Given the description of an element on the screen output the (x, y) to click on. 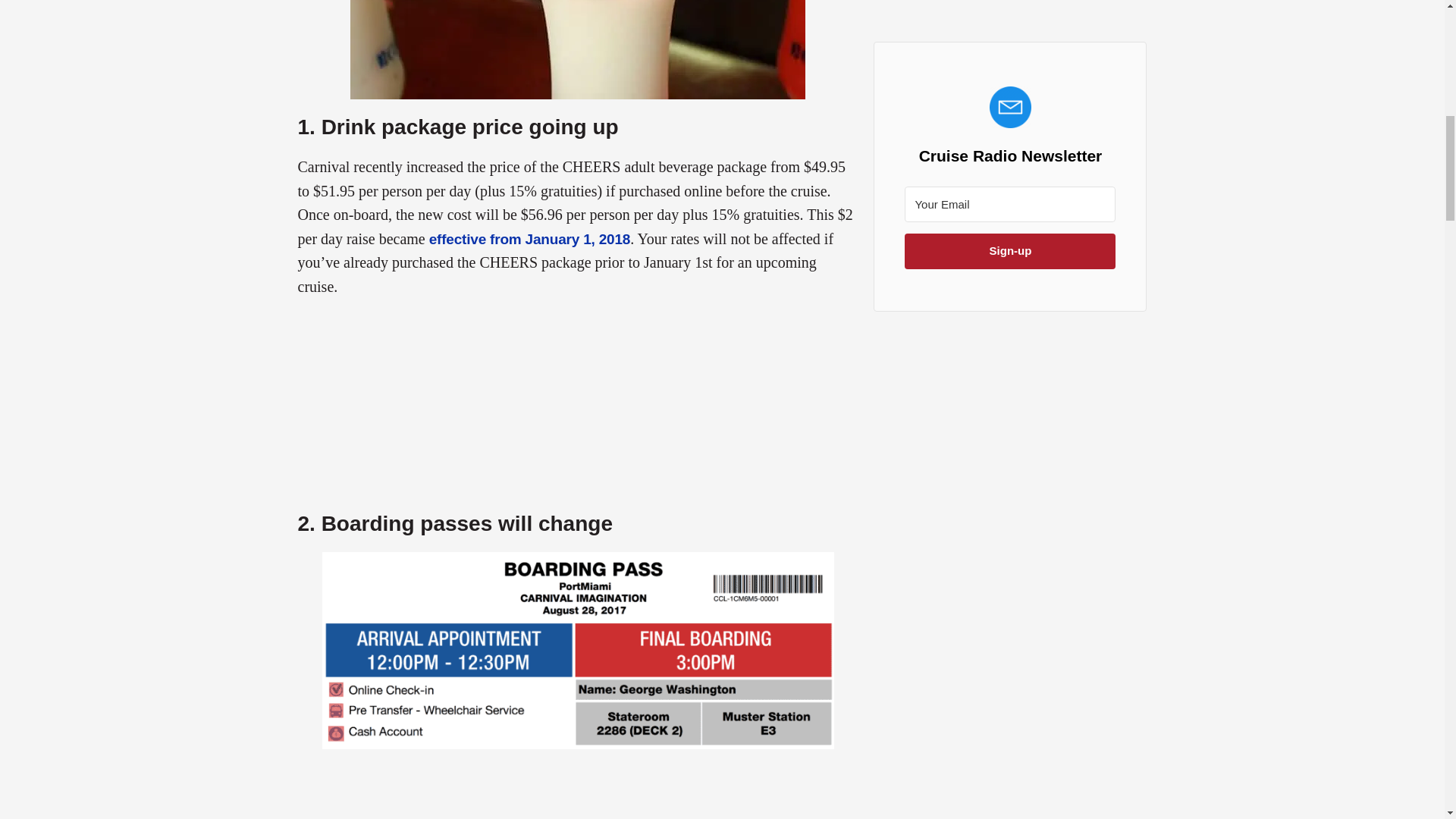
effective from January 1, 2018 (529, 238)
